Given the description of an element on the screen output the (x, y) to click on. 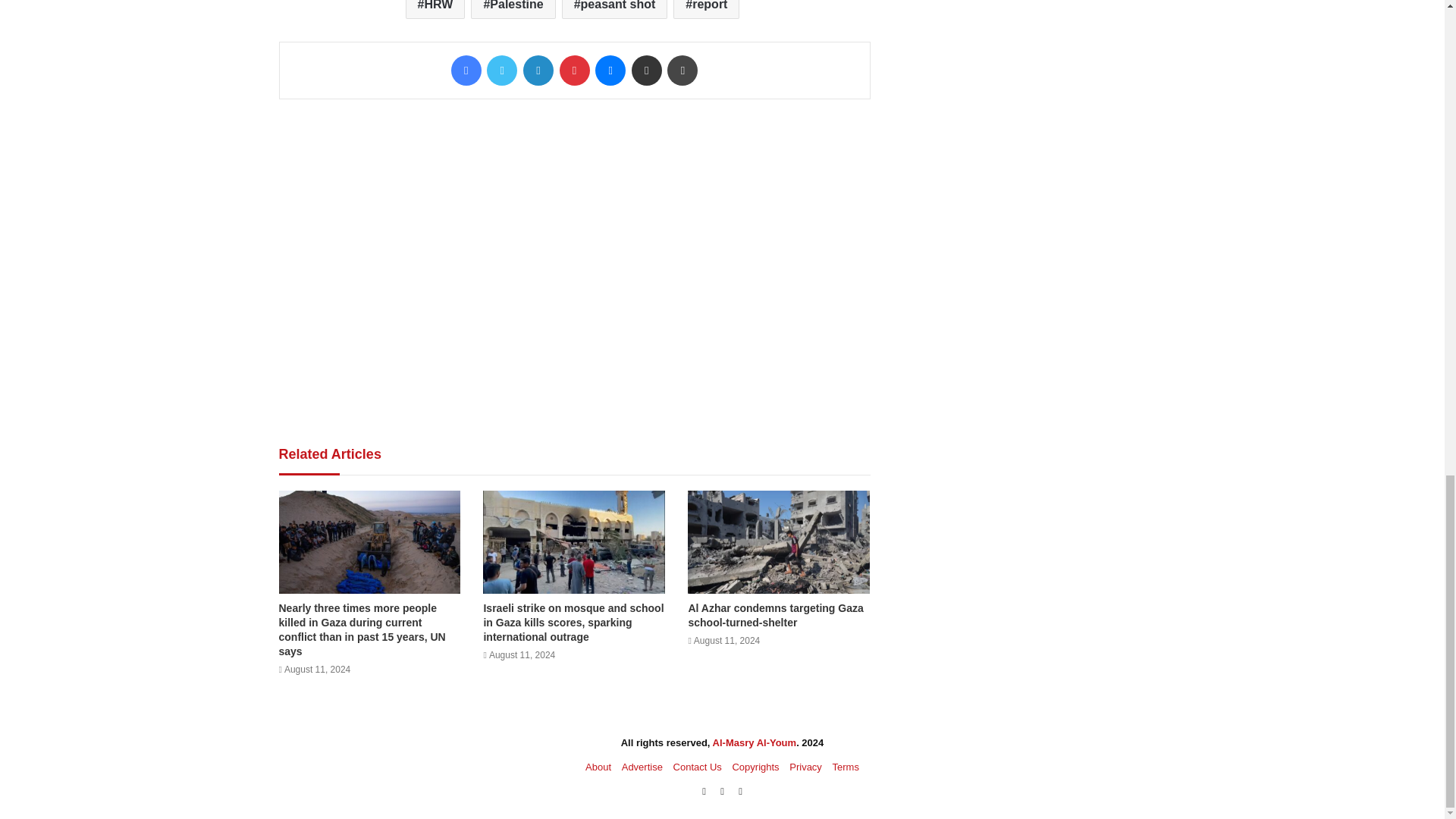
Facebook (466, 70)
HRW (435, 9)
Twitter (501, 70)
Twitter (501, 70)
Pinterest (574, 70)
peasant shot (615, 9)
Palestine (512, 9)
report (705, 9)
Facebook (466, 70)
Messenger (610, 70)
